Given the description of an element on the screen output the (x, y) to click on. 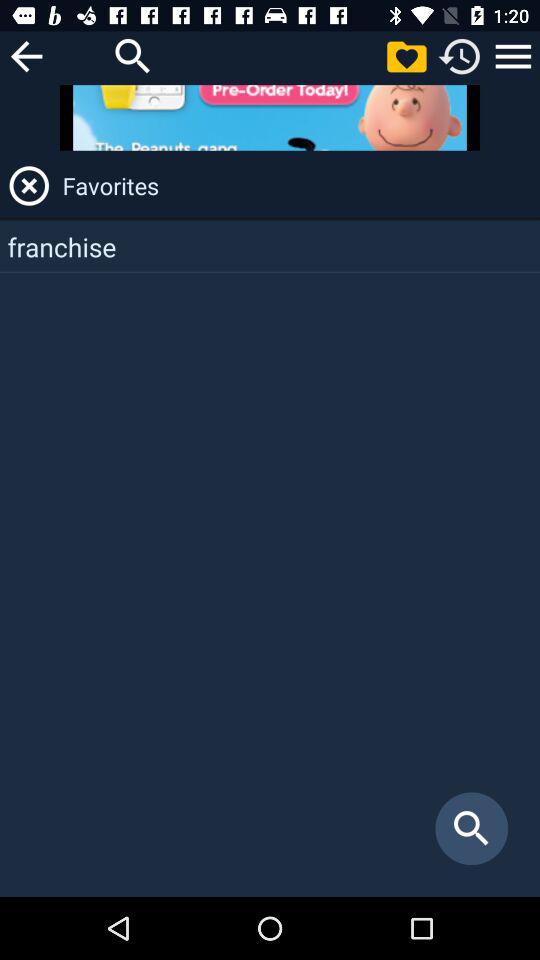
advertisement (270, 117)
